Given the description of an element on the screen output the (x, y) to click on. 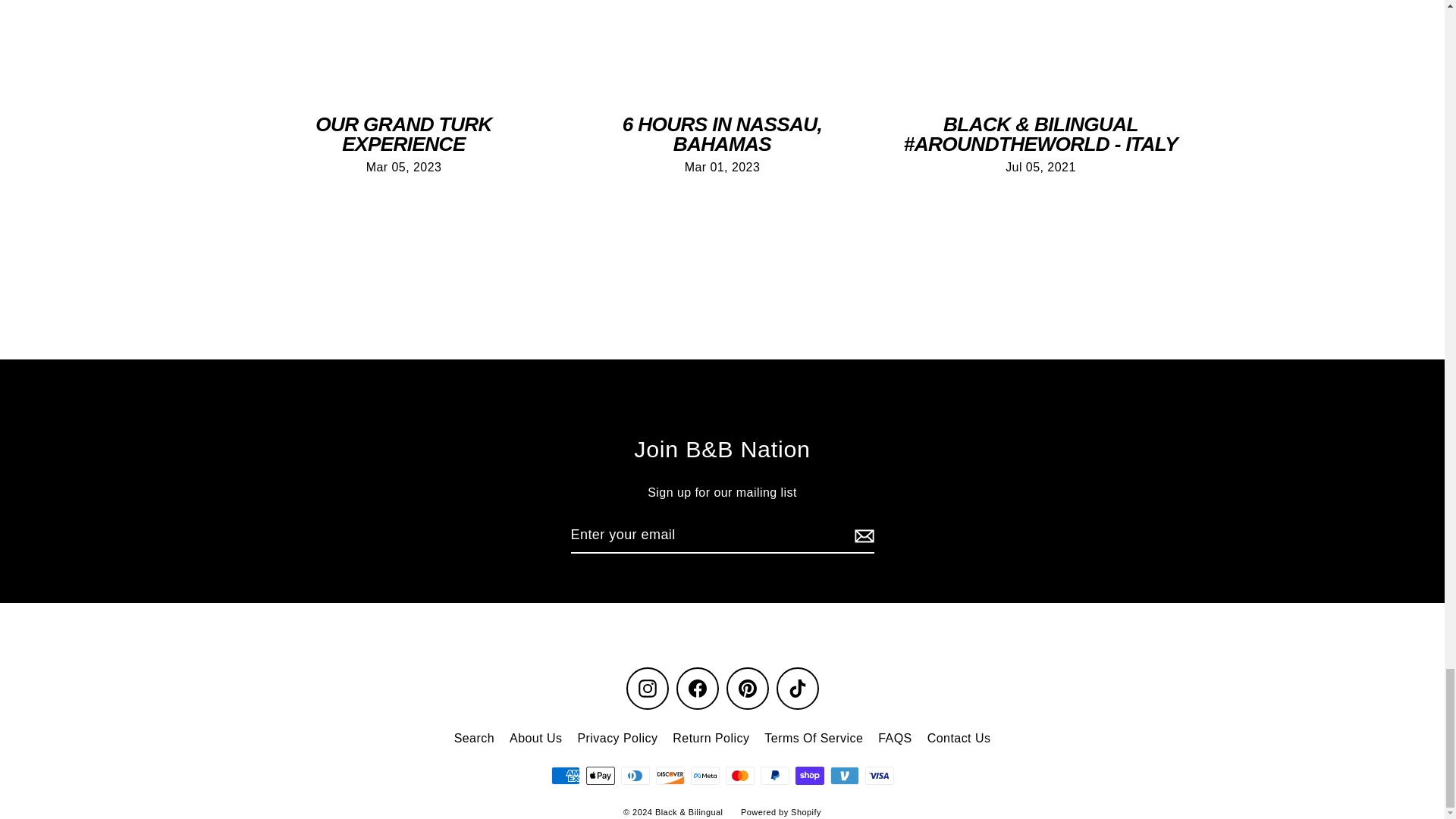
Apple Pay (599, 775)
Shop Pay (809, 775)
PayPal (774, 775)
Diners Club (634, 775)
Meta Pay (704, 775)
American Express (564, 775)
Mastercard (739, 775)
Discover (669, 775)
